Given the description of an element on the screen output the (x, y) to click on. 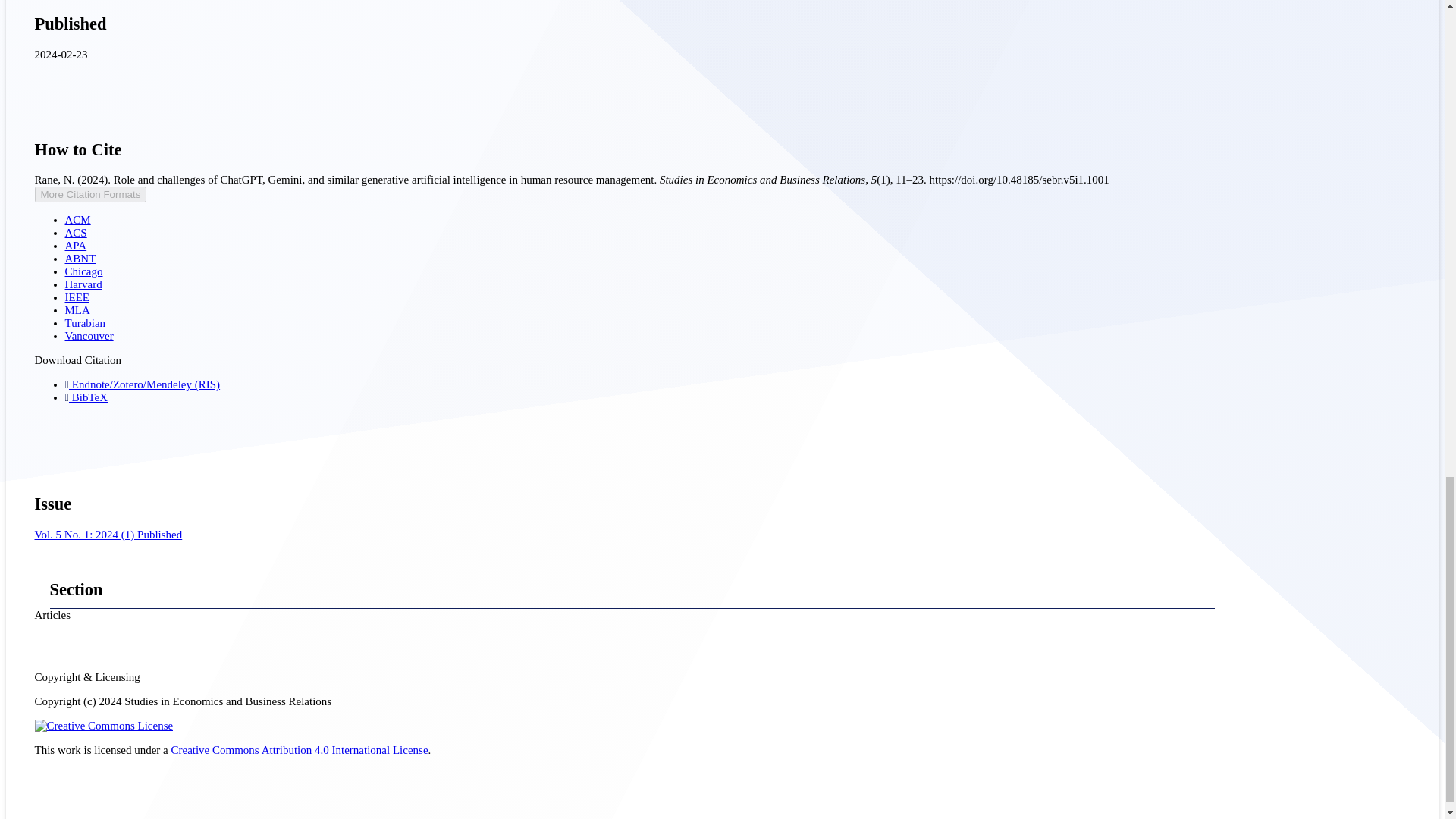
IEEE (76, 297)
ACS (76, 232)
ACM (77, 219)
Chicago (84, 271)
Harvard (83, 284)
APA (76, 245)
More Citation Formats (90, 194)
ABNT (80, 258)
